Given the description of an element on the screen output the (x, y) to click on. 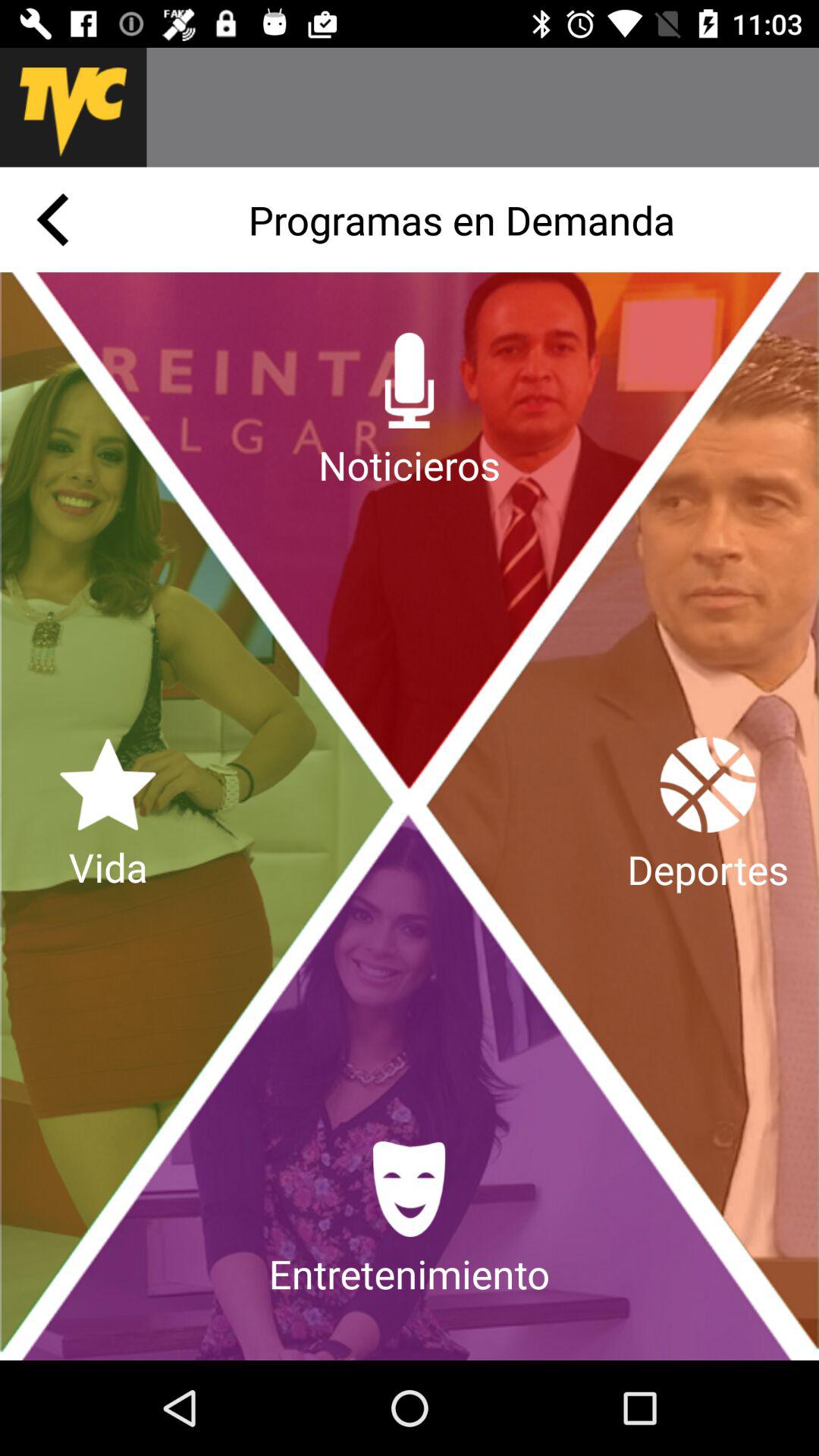
scroll to the entretenimiento item (409, 1220)
